Given the description of an element on the screen output the (x, y) to click on. 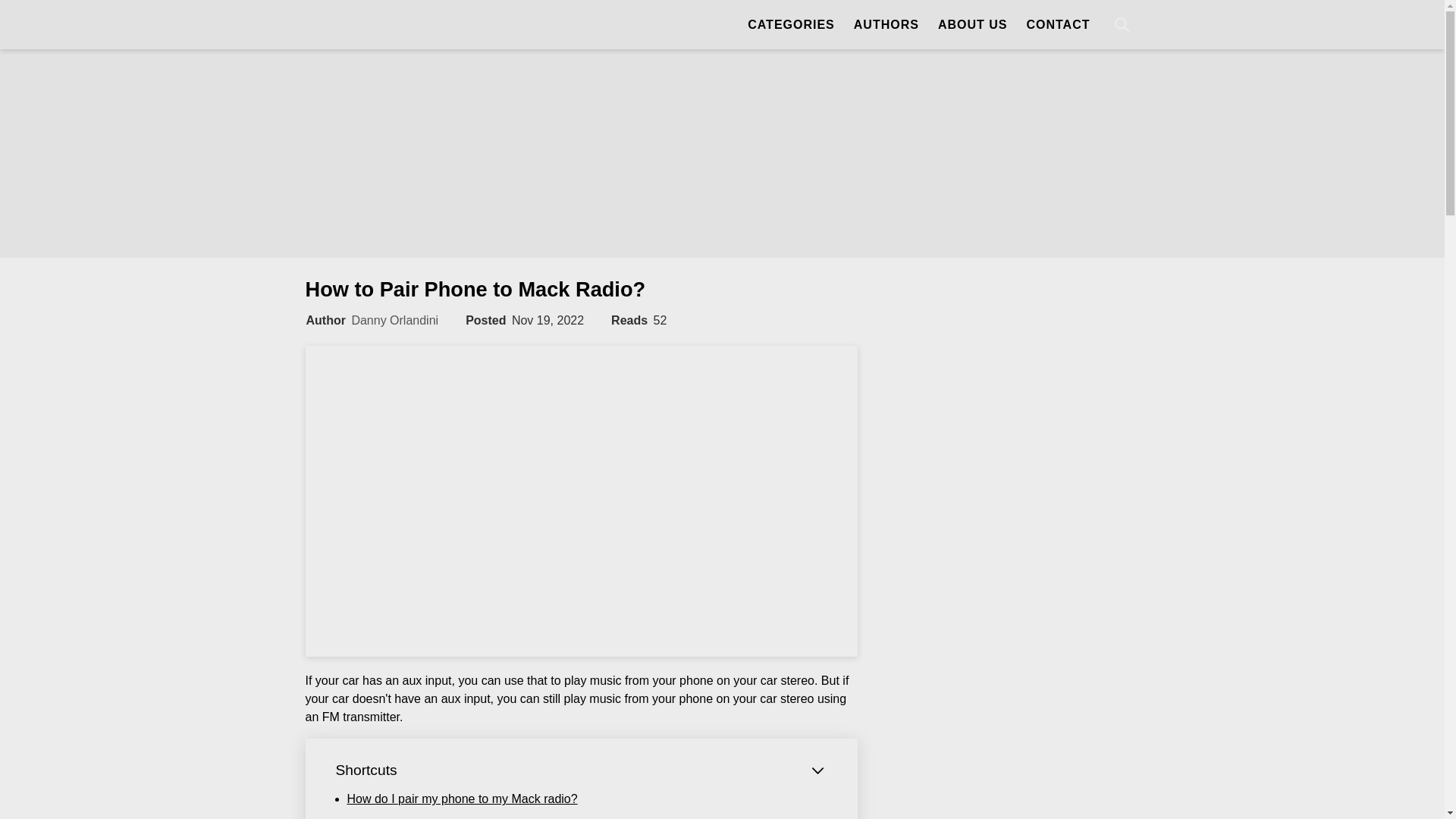
AUTHORS (885, 24)
How do I pair my phone to my Mack radio? (462, 798)
CONTACT (1057, 24)
Danny Orlandini (394, 319)
CATEGORIES (783, 24)
ABOUT US (972, 24)
